Given the description of an element on the screen output the (x, y) to click on. 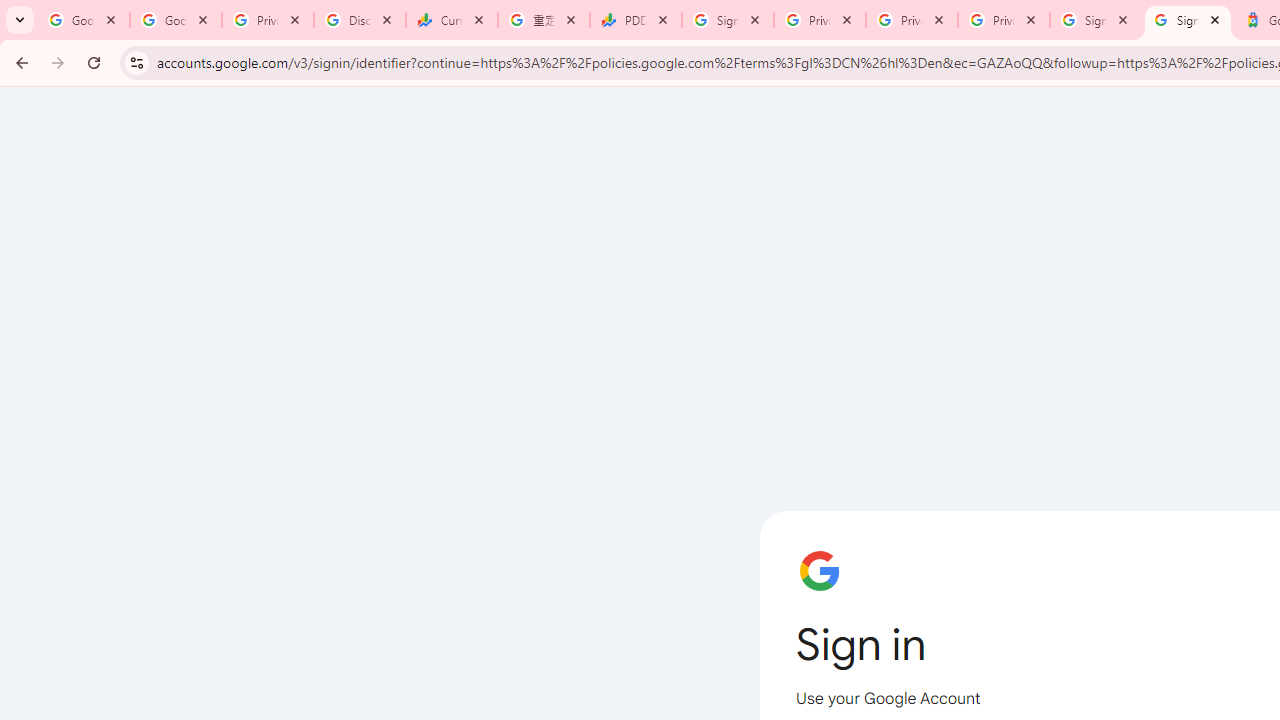
PDD Holdings Inc - ADR (PDD) Price & News - Google Finance (636, 20)
Google Workspace Admin Community (83, 20)
Currencies - Google Finance (451, 20)
Sign in - Google Accounts (1187, 20)
Privacy Checkup (911, 20)
